Given the description of an element on the screen output the (x, y) to click on. 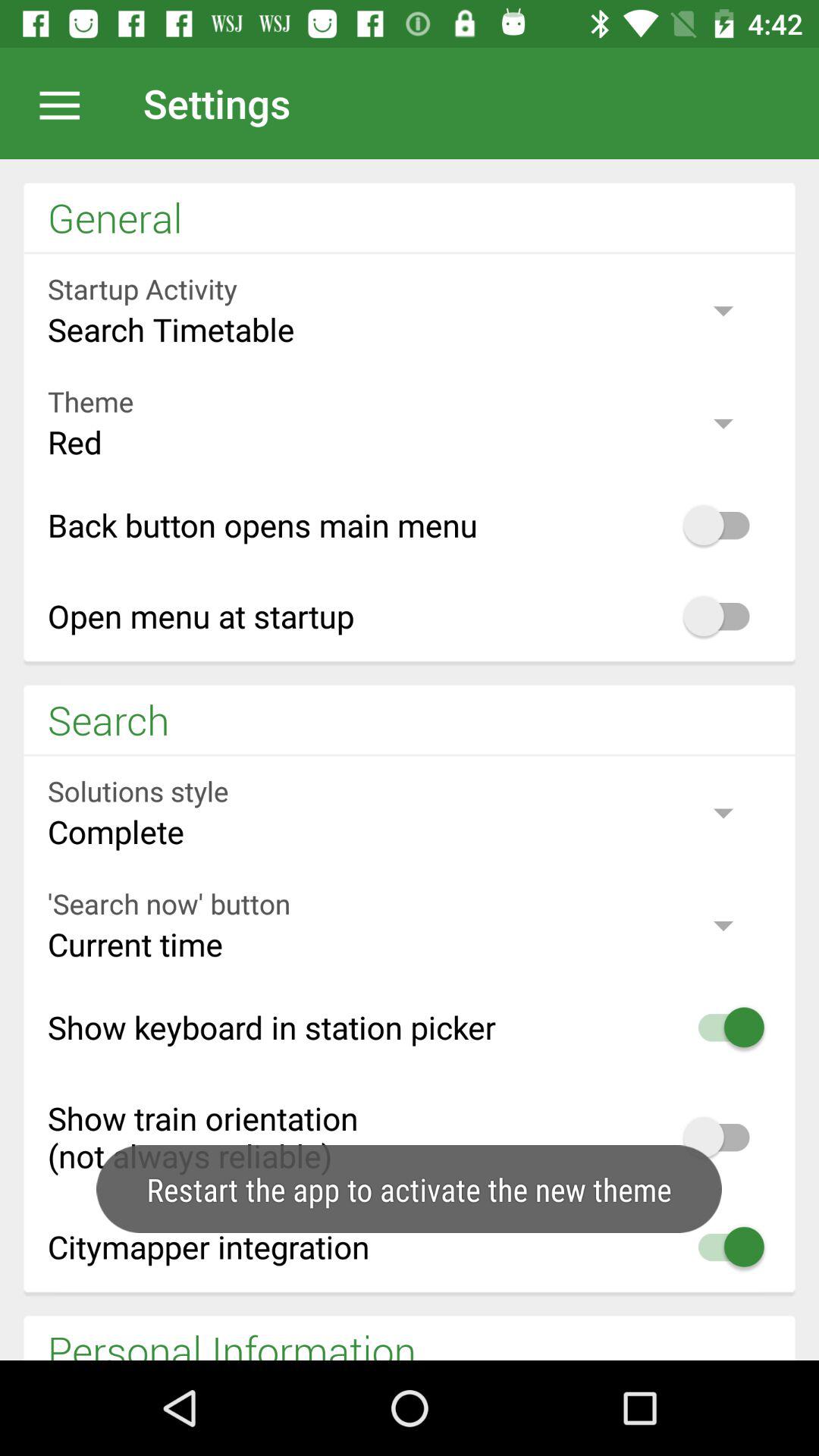
go to menu (67, 103)
